Given the description of an element on the screen output the (x, y) to click on. 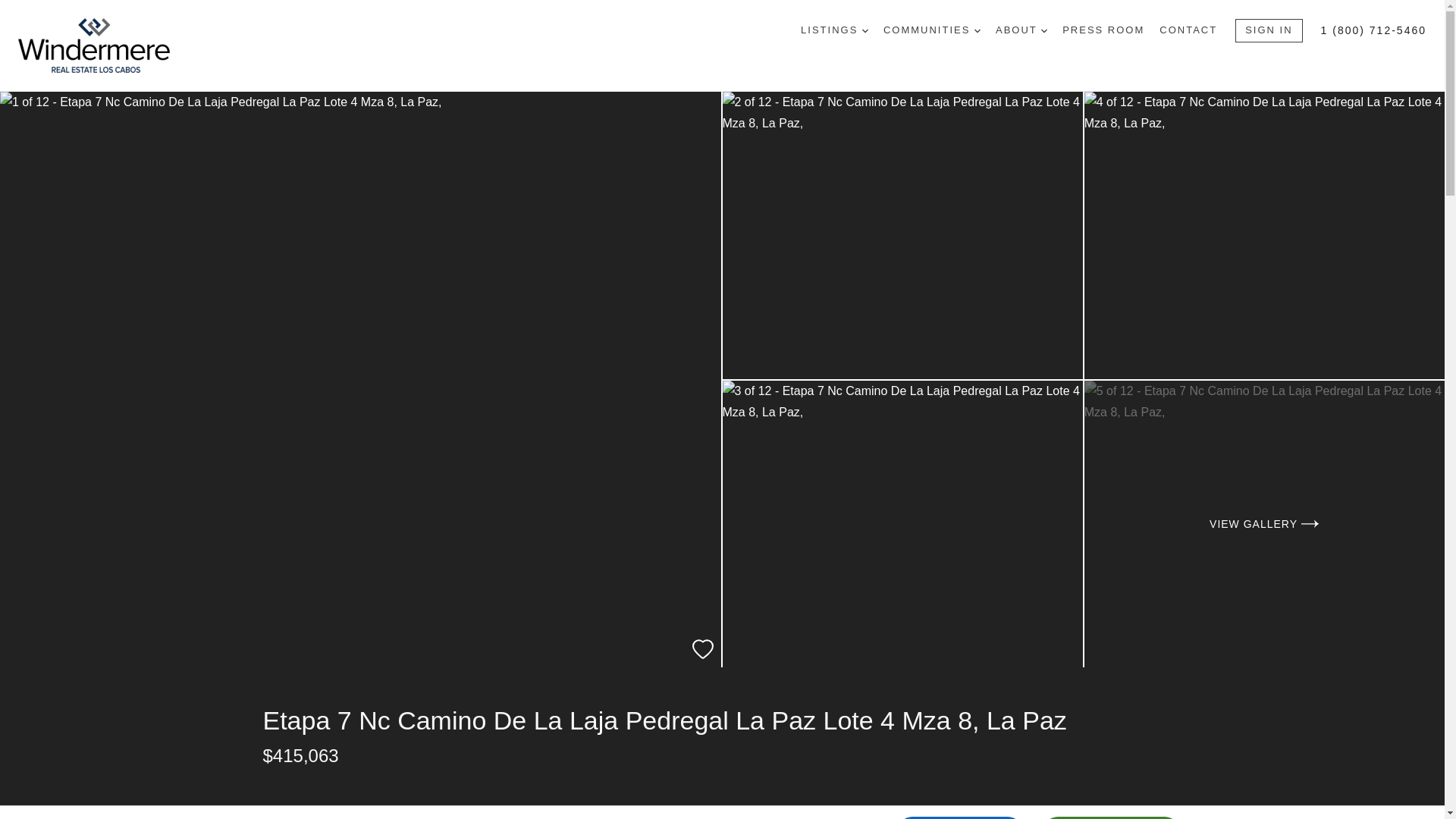
DROPDOWN ARROW (976, 30)
OVERVIEW (291, 812)
DROPDOWN ARROW (864, 30)
SIGN IN (1267, 30)
PRESS ROOM (1103, 30)
COMMUNITIES DROPDOWN ARROW (931, 30)
LISTINGS DROPDOWN ARROW (833, 30)
ABOUT DROPDOWN ARROW (1020, 30)
DROPDOWN ARROW (1043, 30)
CONTACT (1187, 30)
